Given the description of an element on the screen output the (x, y) to click on. 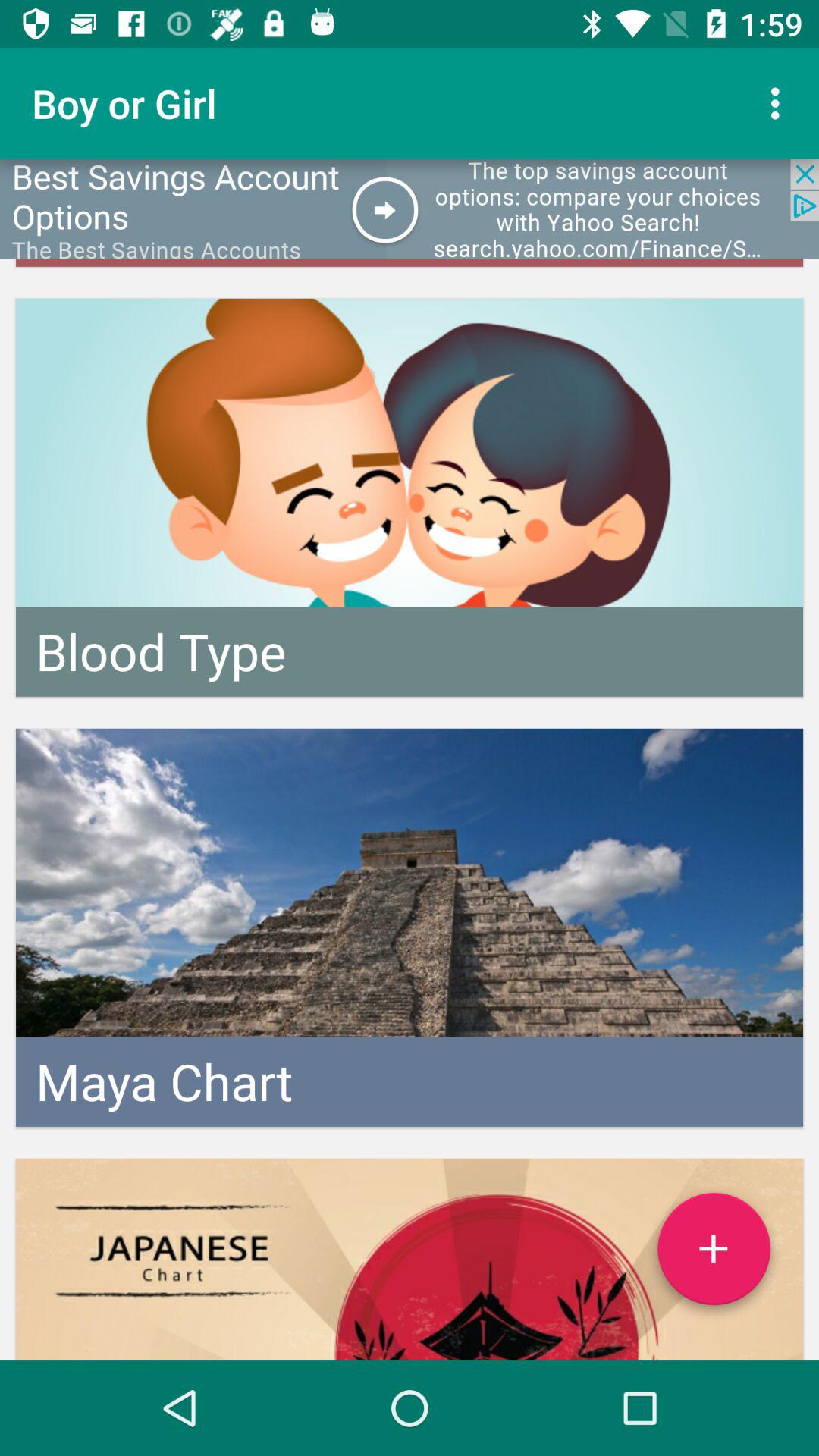
click on the last image at the bottom of the page (409, 1258)
click on the button at the top right bottom of the page (713, 1254)
click on the first image (409, 497)
select the 2nd image on the web page (409, 927)
click on the center image of the page (409, 927)
